Given the description of an element on the screen output the (x, y) to click on. 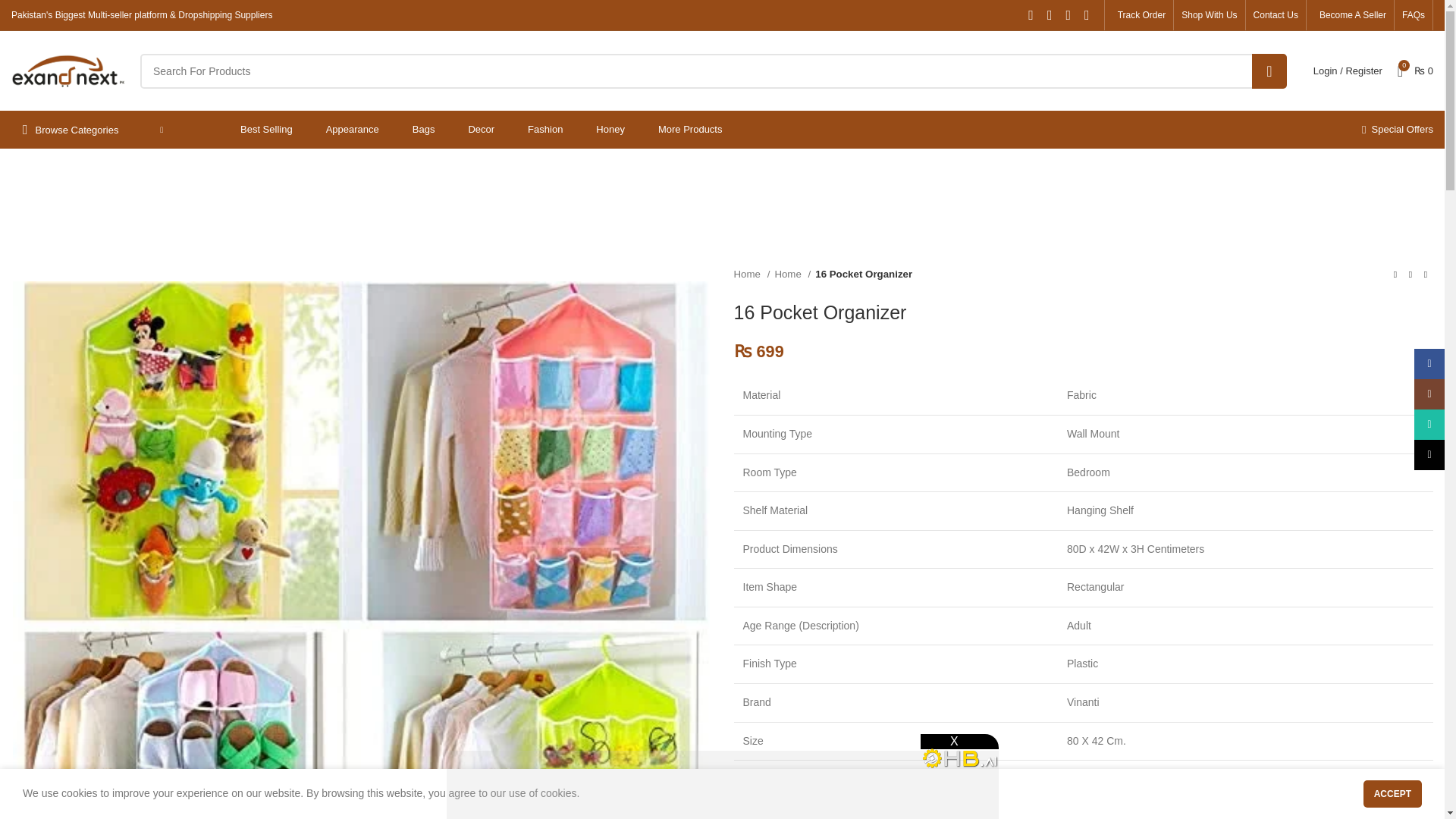
Contact Us (1275, 15)
3rd party ad content (721, 213)
Special Offers (1396, 129)
Fashion (544, 129)
Honey (609, 129)
Appearance (352, 129)
Search (1269, 70)
Search for products (713, 70)
Shopping cart (1415, 71)
Become A Seller (1350, 15)
Track Order (1139, 15)
Home (751, 274)
More Products (690, 129)
Best Selling (266, 129)
My account (1348, 71)
